Given the description of an element on the screen output the (x, y) to click on. 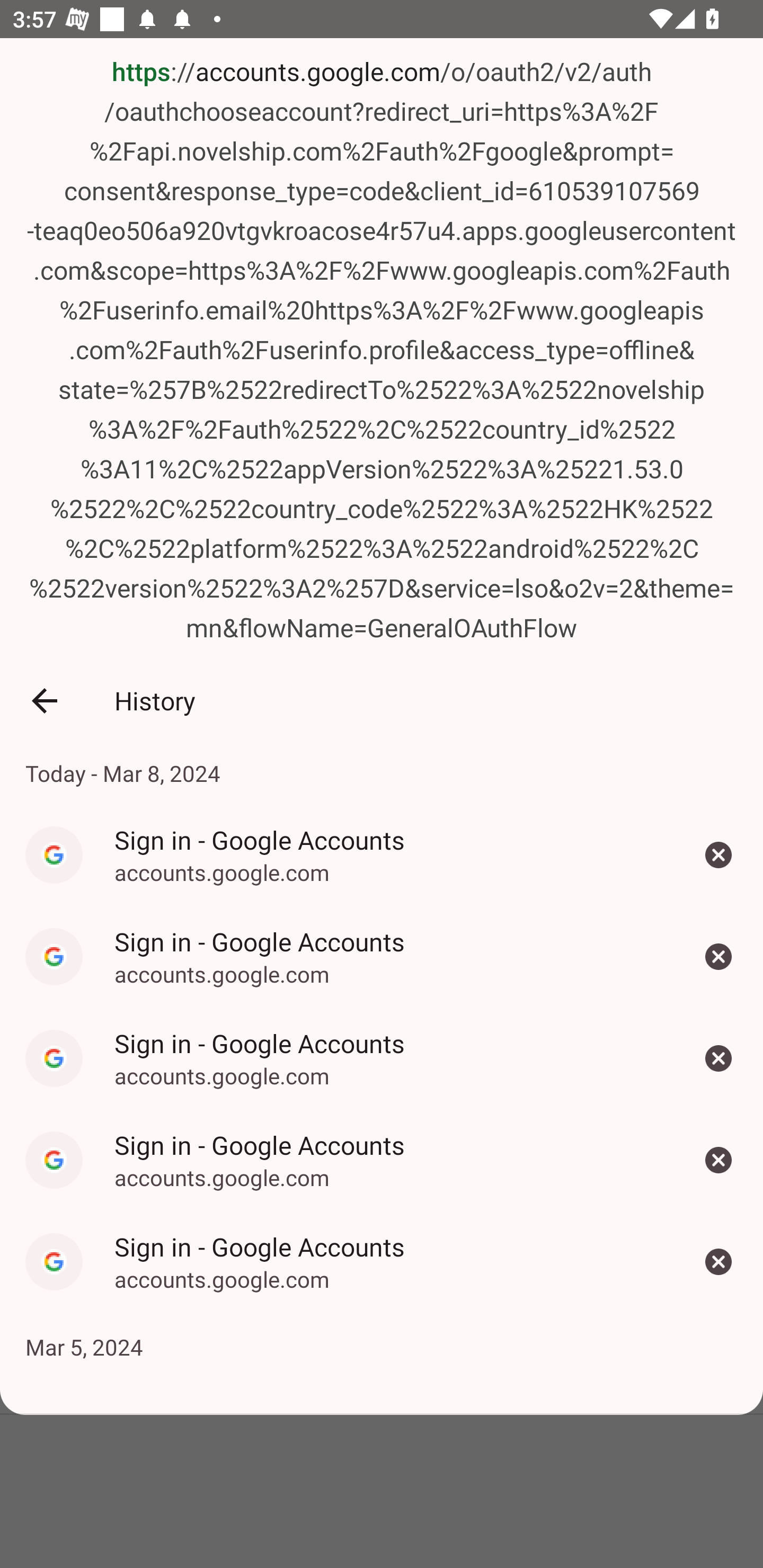
Back (44, 700)
Sign in - Google Accounts Remove (718, 855)
Sign in - Google Accounts Remove (718, 957)
Sign in - Google Accounts Remove (718, 1058)
Sign in - Google Accounts Remove (718, 1159)
Sign in - Google Accounts Remove (718, 1261)
